Given the description of an element on the screen output the (x, y) to click on. 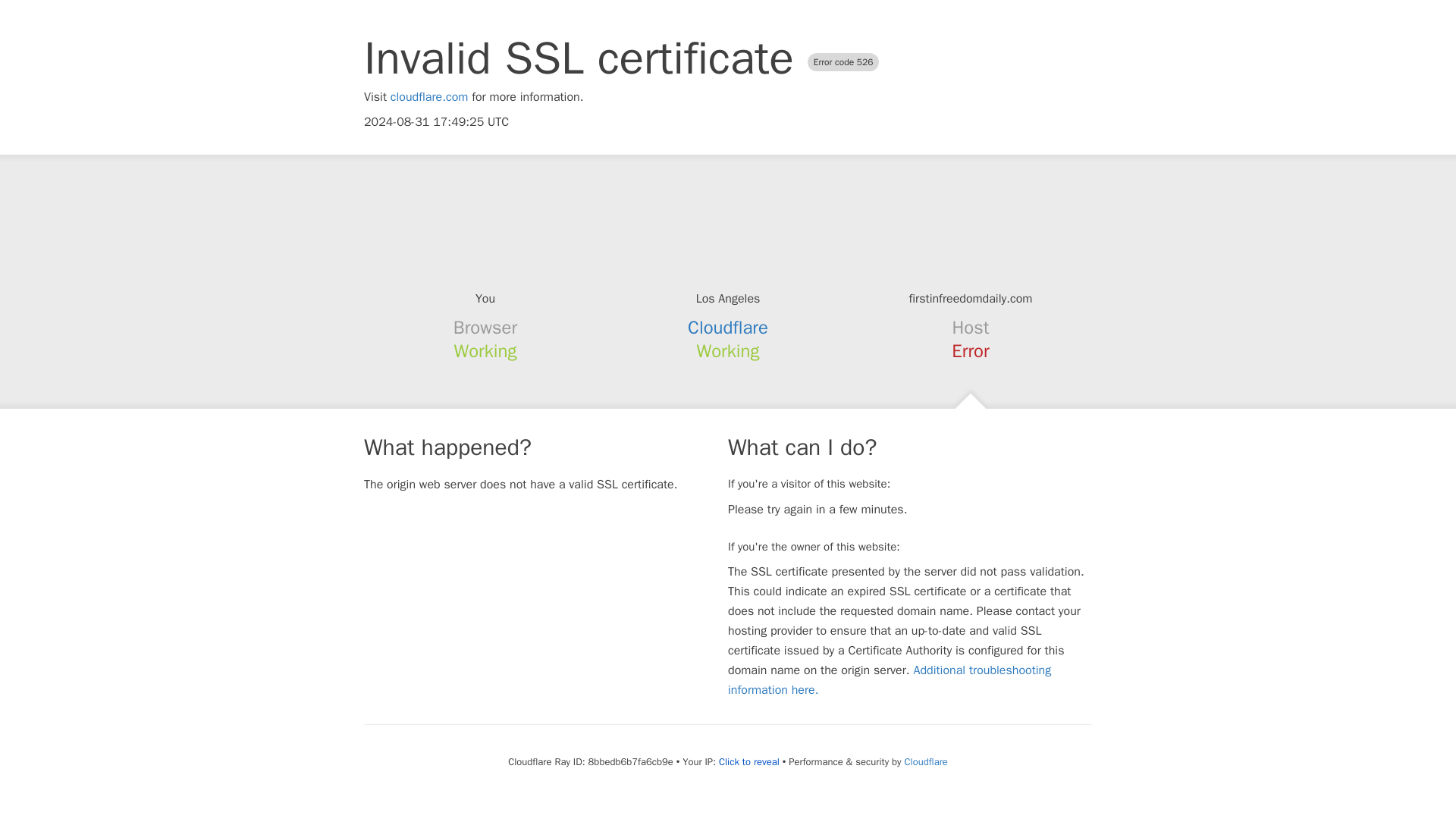
cloudflare.com (429, 96)
Click to reveal (748, 762)
Cloudflare (727, 327)
Additional troubleshooting information here. (889, 679)
Cloudflare (925, 761)
